Given the description of an element on the screen output the (x, y) to click on. 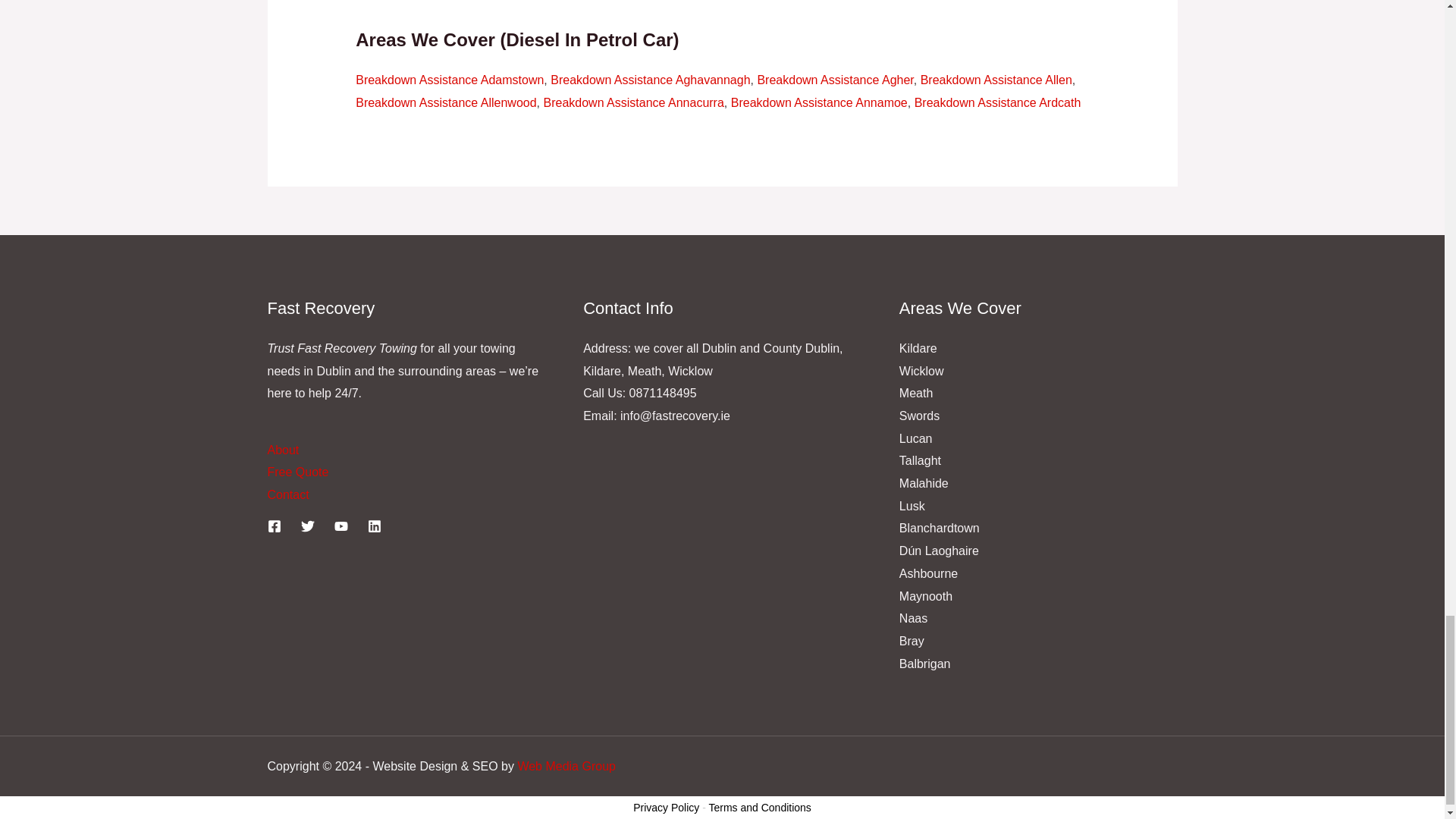
Breakdown Assistance Adamstown (449, 79)
Breakdown Assistance Agher (834, 79)
Breakdown Assistance Ardcath (997, 102)
Breakdown Assistance Allenwood (445, 102)
Breakdown Assistance Allen (995, 79)
Breakdown Assistance Annacurra (633, 102)
Breakdown Assistance Annamoe (818, 102)
Breakdown Assistance Aghavannagh (649, 79)
